Given the description of an element on the screen output the (x, y) to click on. 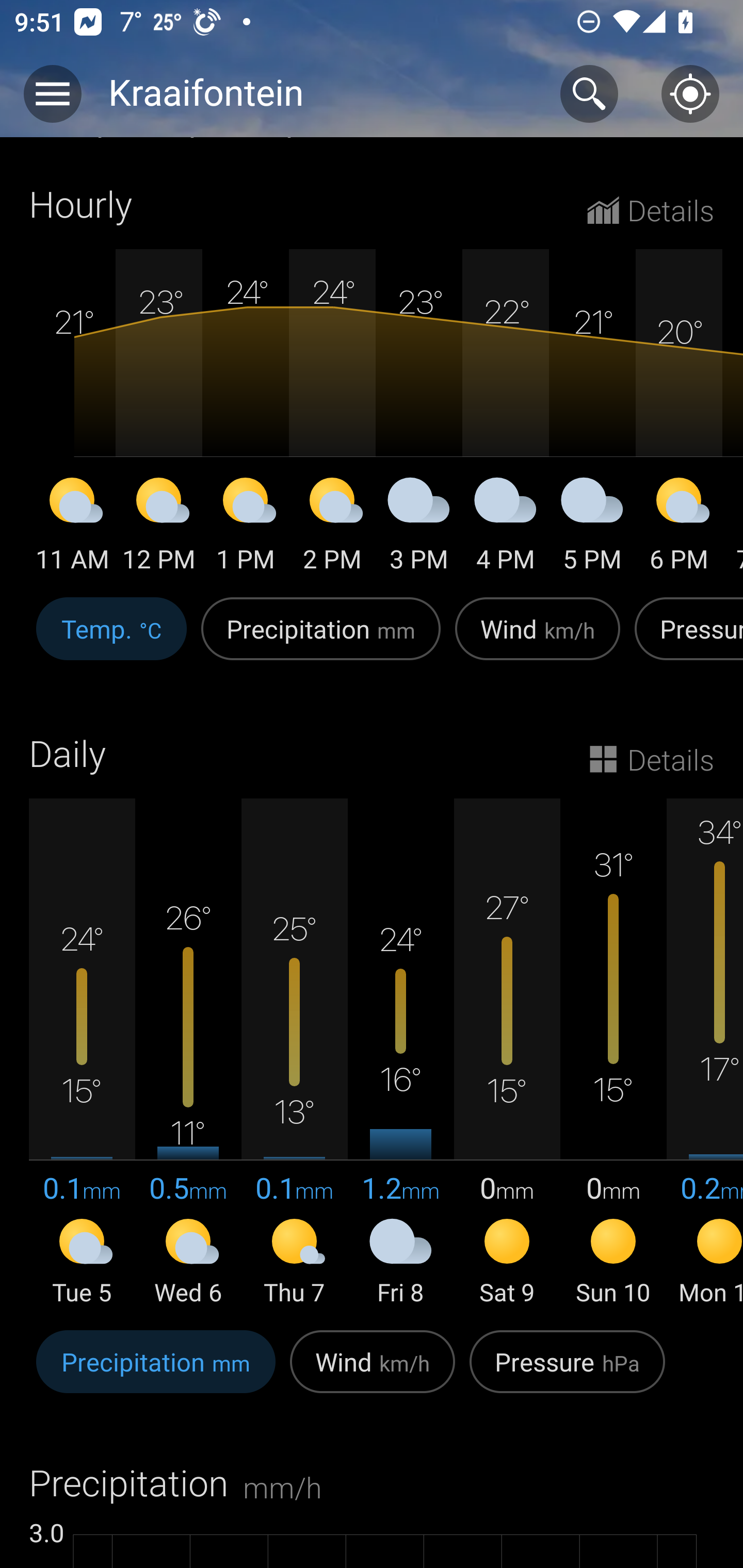
11 AM (71, 527)
12 PM (158, 527)
1 PM (245, 527)
2 PM (332, 527)
3 PM (418, 527)
4 PM (505, 527)
5 PM (592, 527)
6 PM (679, 527)
Temp. °C (110, 638)
Precipitation mm (320, 638)
Wind km/h (537, 638)
Pressure (685, 638)
24° 15° 0.1 mm Tue 5 (81, 1053)
26° 11° 0.5 mm Wed 6 (188, 1053)
25° 13° 0.1 mm Thu 7 (294, 1053)
24° 16° 1.2 mm Fri 8 (400, 1053)
27° 15° 0 mm Sat 9 (506, 1053)
31° 15° 0 mm Sun 10 (613, 1053)
34° 17° 0.2 mm Mon 11 (704, 1053)
Precipitation mm (155, 1372)
Wind km/h (372, 1372)
Pressure hPa (567, 1372)
